Given the description of an element on the screen output the (x, y) to click on. 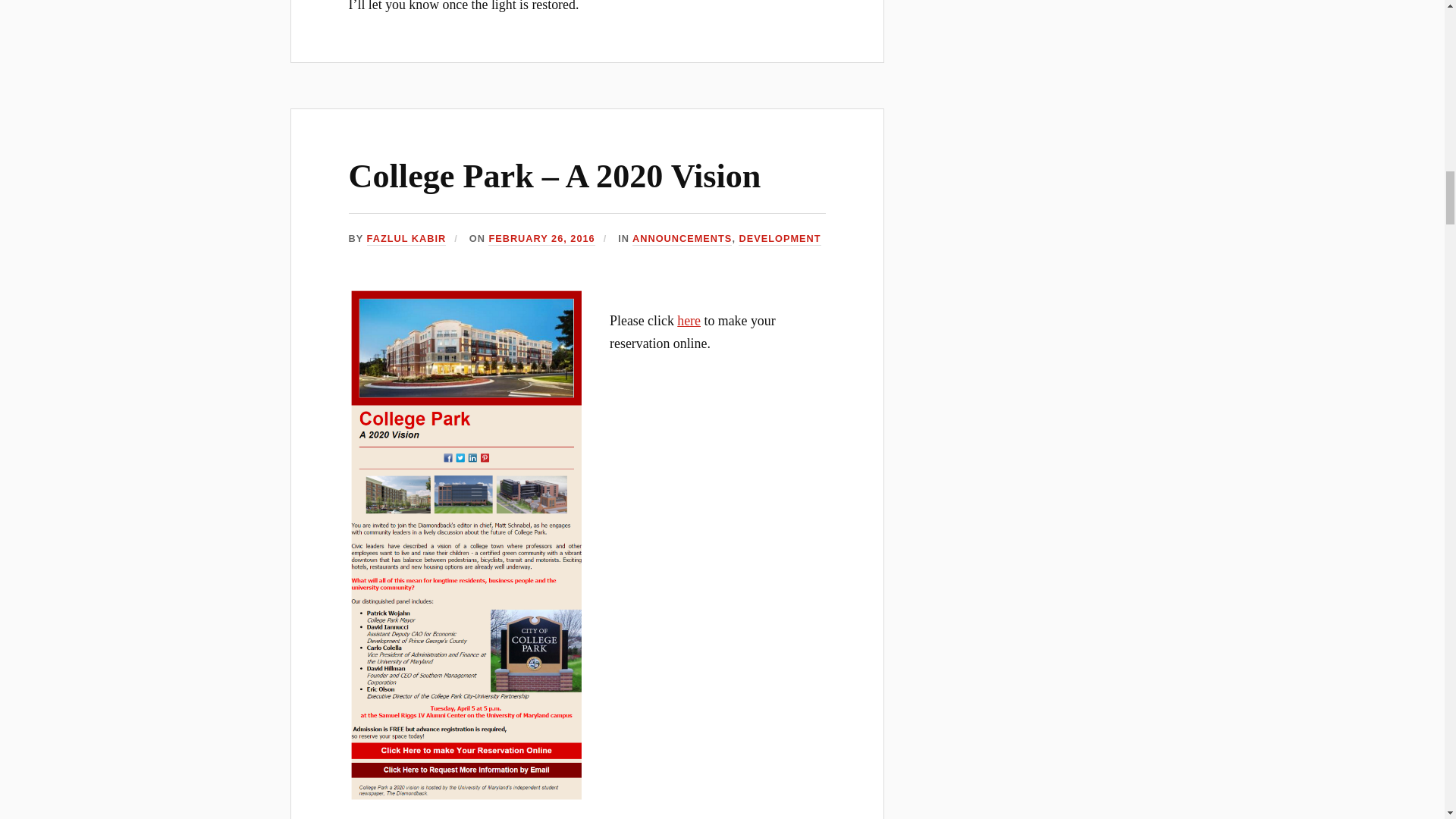
FEBRUARY 26, 2016 (540, 238)
here (688, 320)
ANNOUNCEMENTS (681, 238)
FAZLUL KABIR (406, 238)
Posts by Fazlul Kabir (406, 238)
DEVELOPMENT (779, 238)
